Given the description of an element on the screen output the (x, y) to click on. 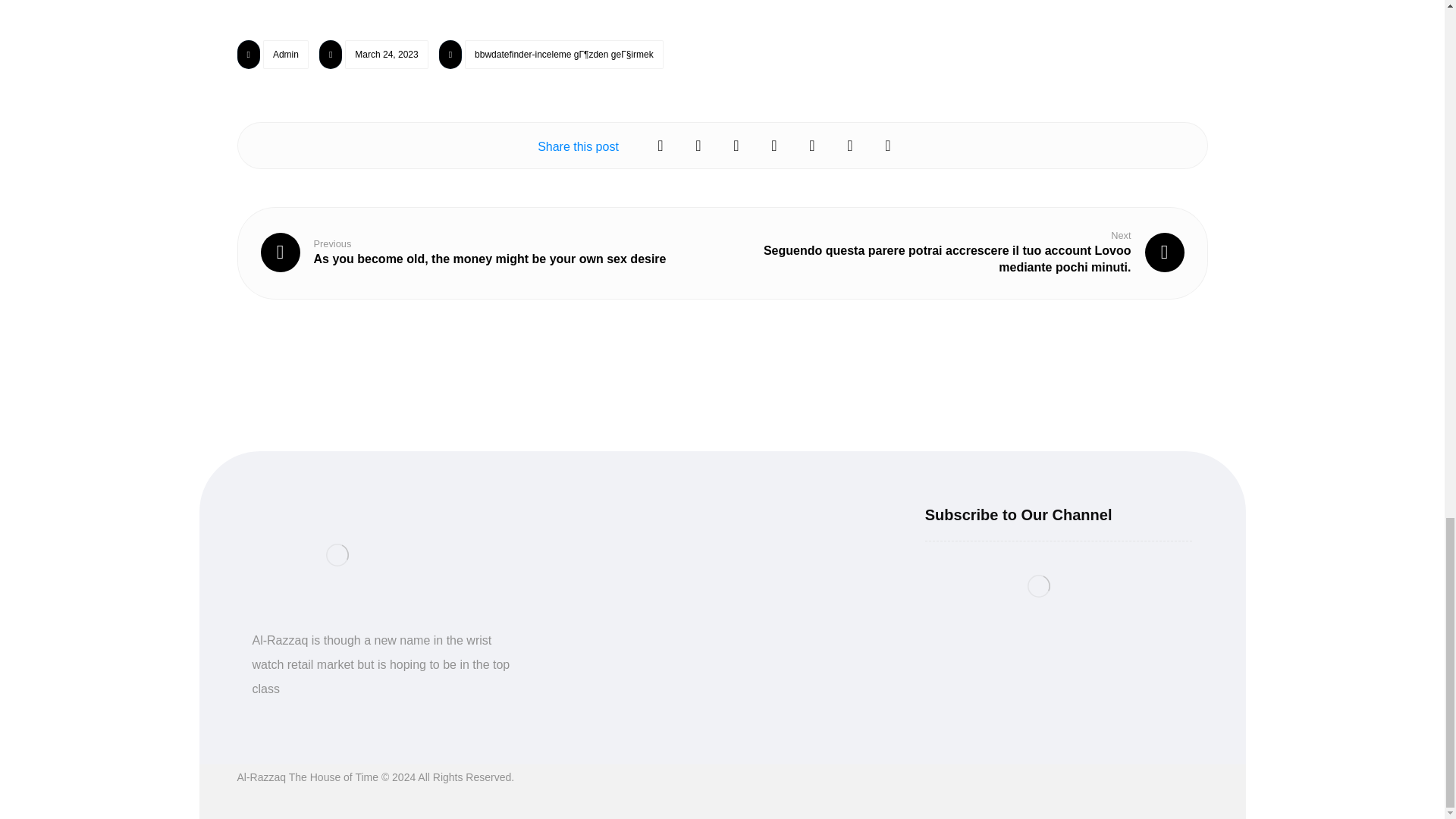
Admin (285, 54)
March 24, 2023 (386, 54)
